Given the description of an element on the screen output the (x, y) to click on. 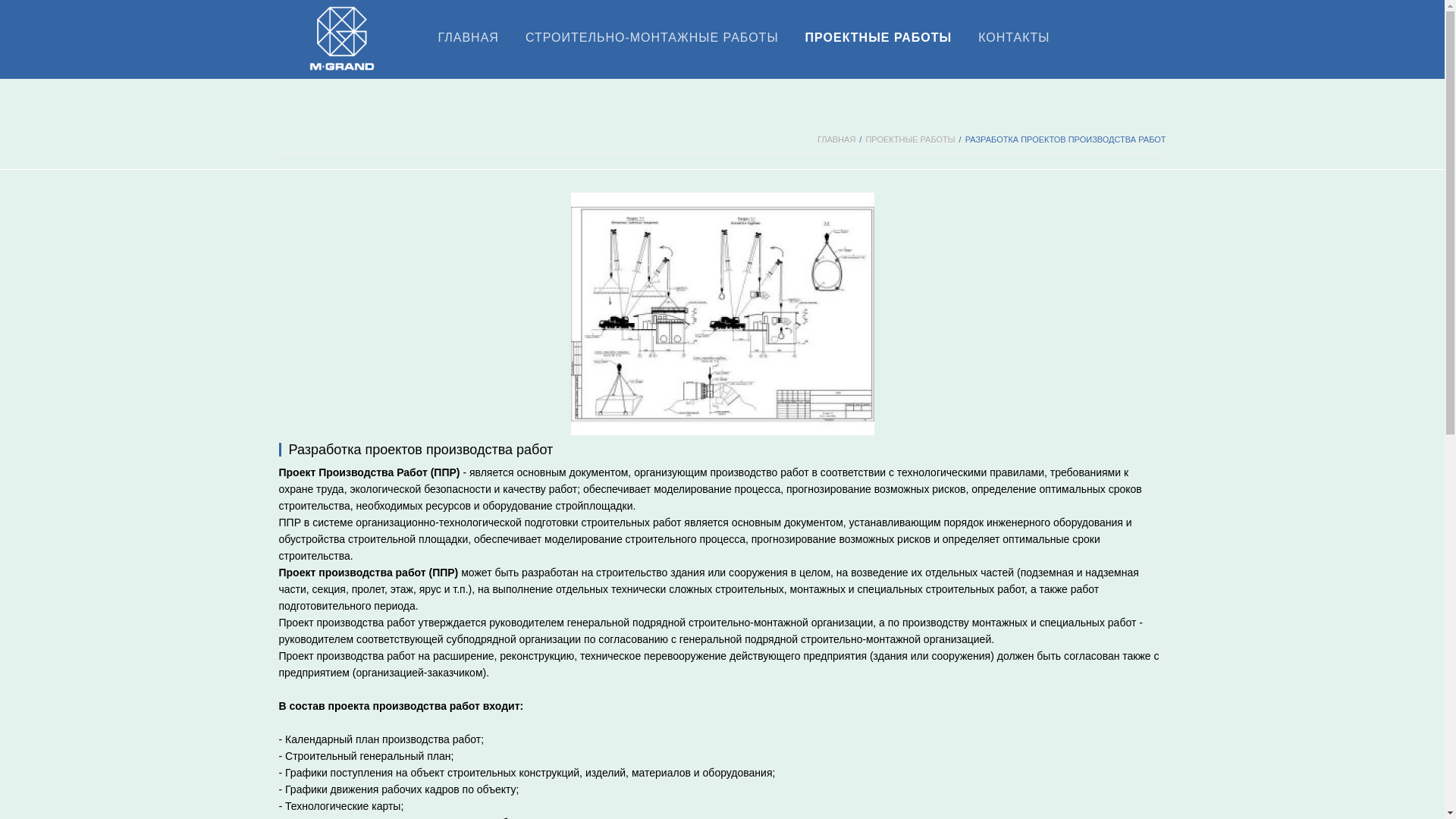
Click to preview image Element type: hover (721, 313)
